Given the description of an element on the screen output the (x, y) to click on. 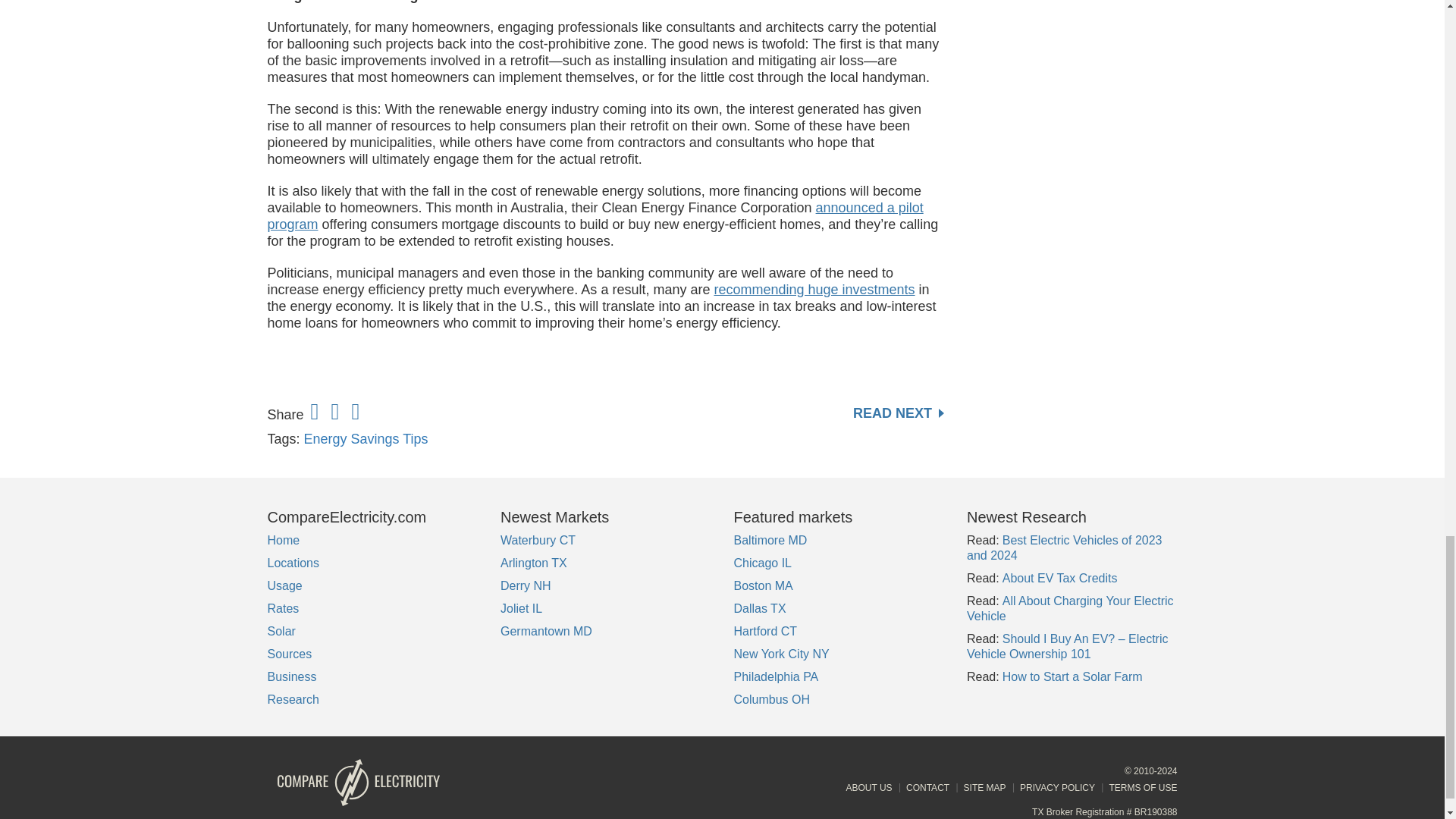
READ NEXT (898, 412)
Energy Savings Tips (366, 438)
recommending huge investments (813, 289)
announced a pilot program (594, 215)
